Given the description of an element on the screen output the (x, y) to click on. 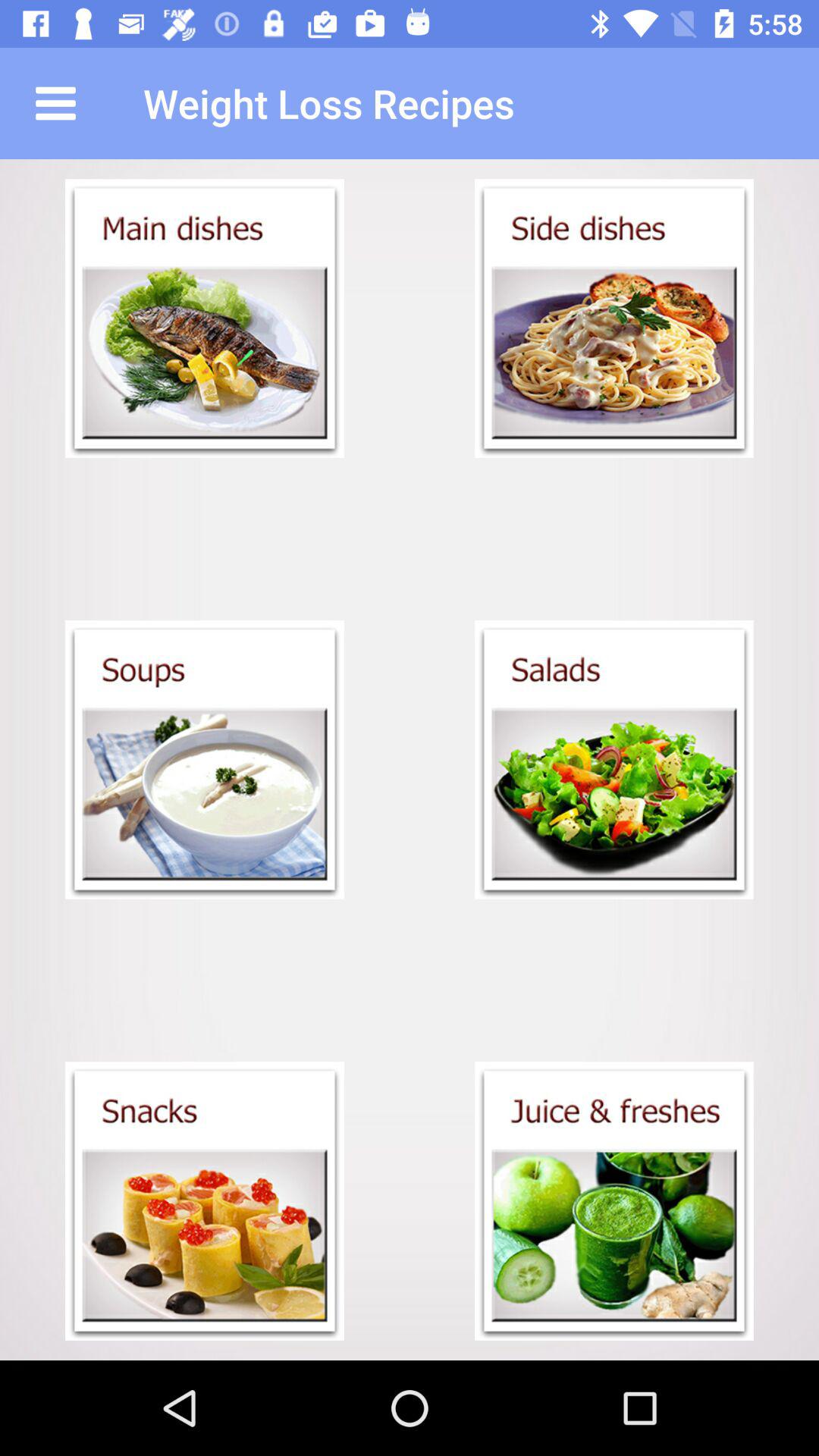
selet main dish (204, 318)
